Given the description of an element on the screen output the (x, y) to click on. 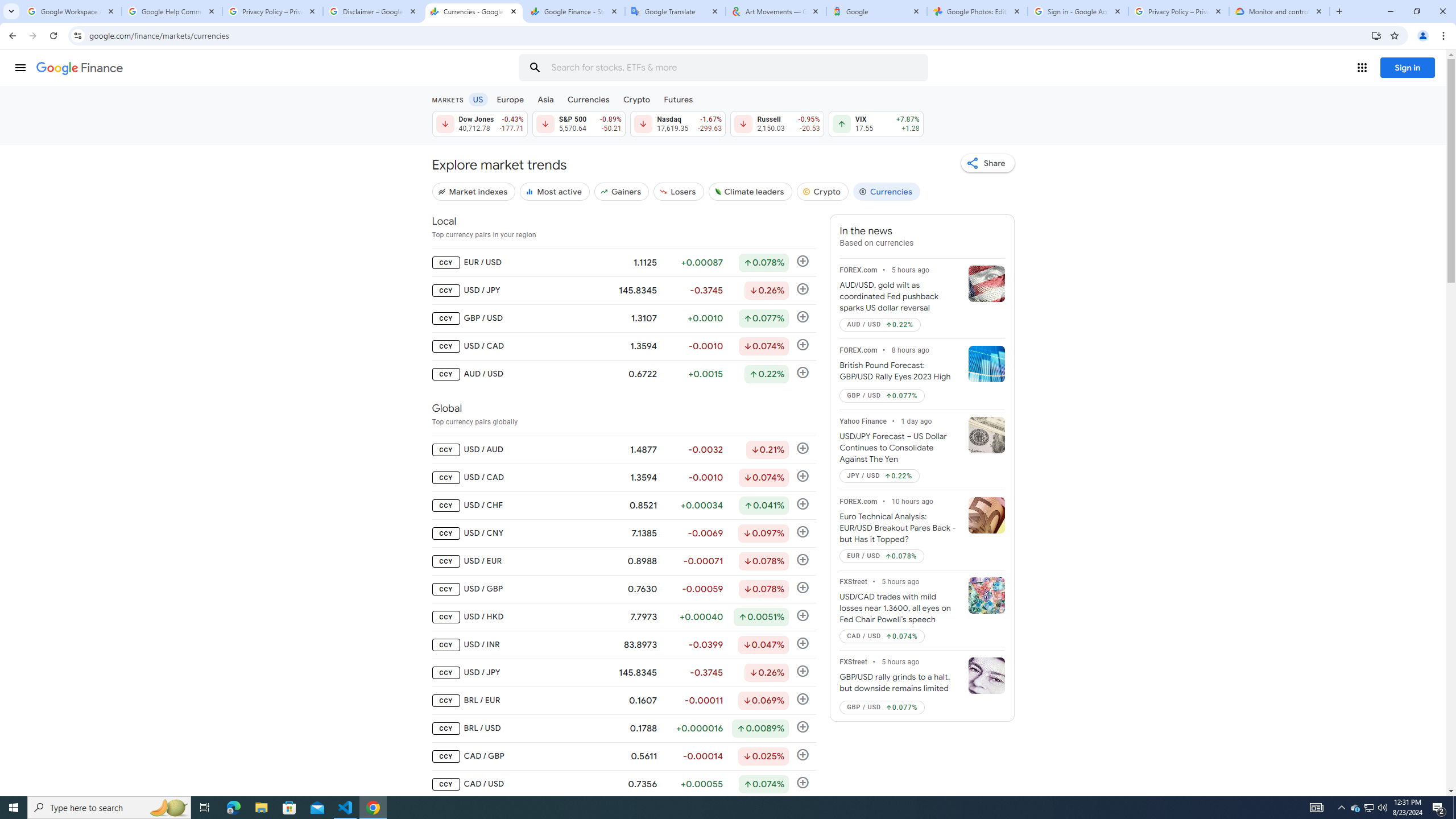
CCY USD / CAD 1.3594 -0.0010 Down by 0.074% Follow (623, 477)
S&P 500 5,570.64 Down by 0.89% -50.21 (578, 123)
Losers (678, 191)
Most active (554, 191)
Crypto (822, 191)
GLeaf logo Climate leaders (749, 191)
Asia (545, 99)
CCY CAD / GBP 0.5611 -0.00014 Down by 0.025% Follow (623, 756)
Futures (678, 99)
CCY CAD / USD 0.7354 +0.00040 Up by 0.074% Follow (623, 784)
